Given the description of an element on the screen output the (x, y) to click on. 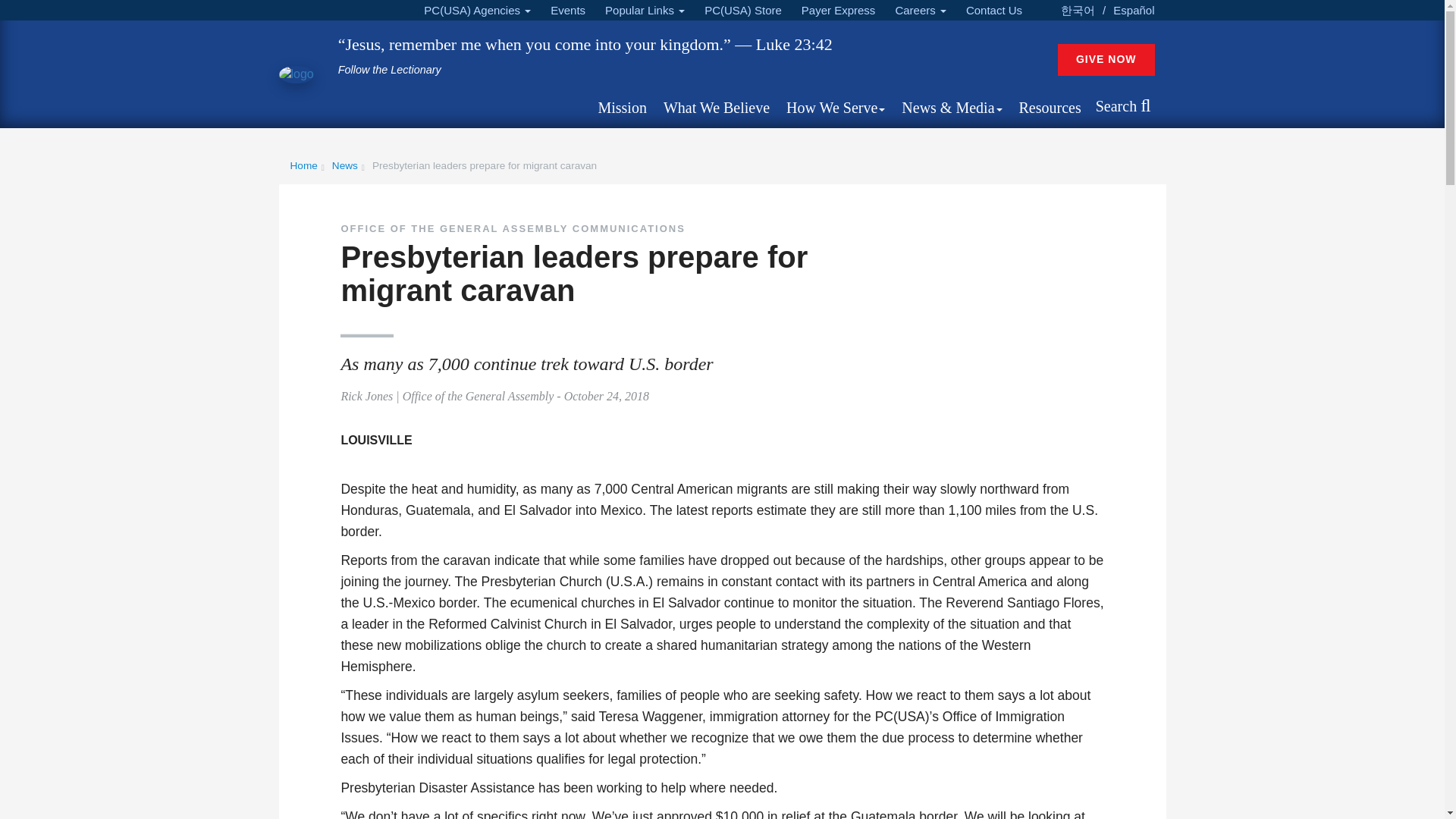
Careers (920, 10)
Contact Us (993, 10)
Payer Express (838, 10)
Events (567, 10)
Popular Links (644, 10)
